Given the description of an element on the screen output the (x, y) to click on. 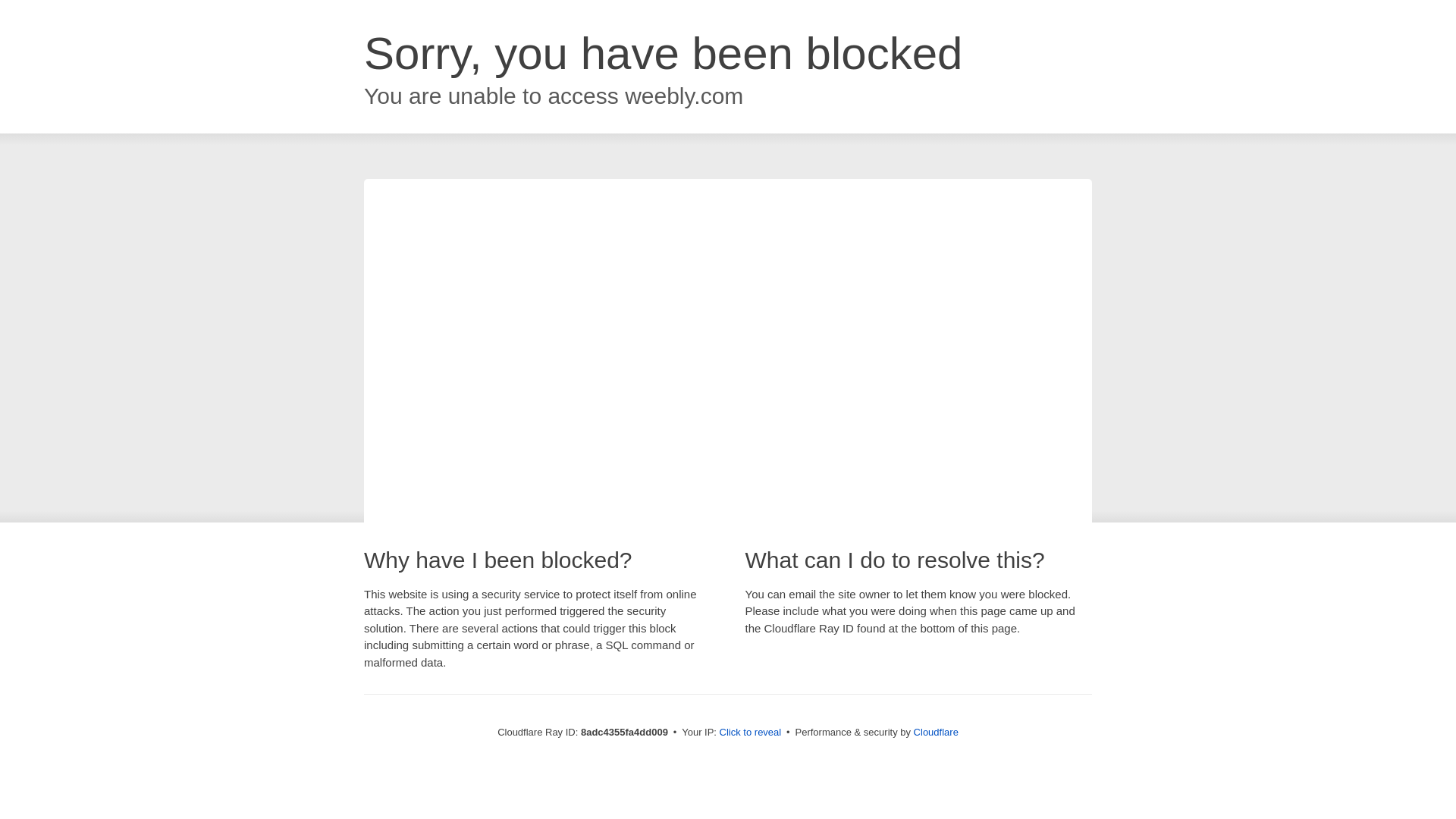
Cloudflare (936, 731)
Click to reveal (750, 732)
